Given the description of an element on the screen output the (x, y) to click on. 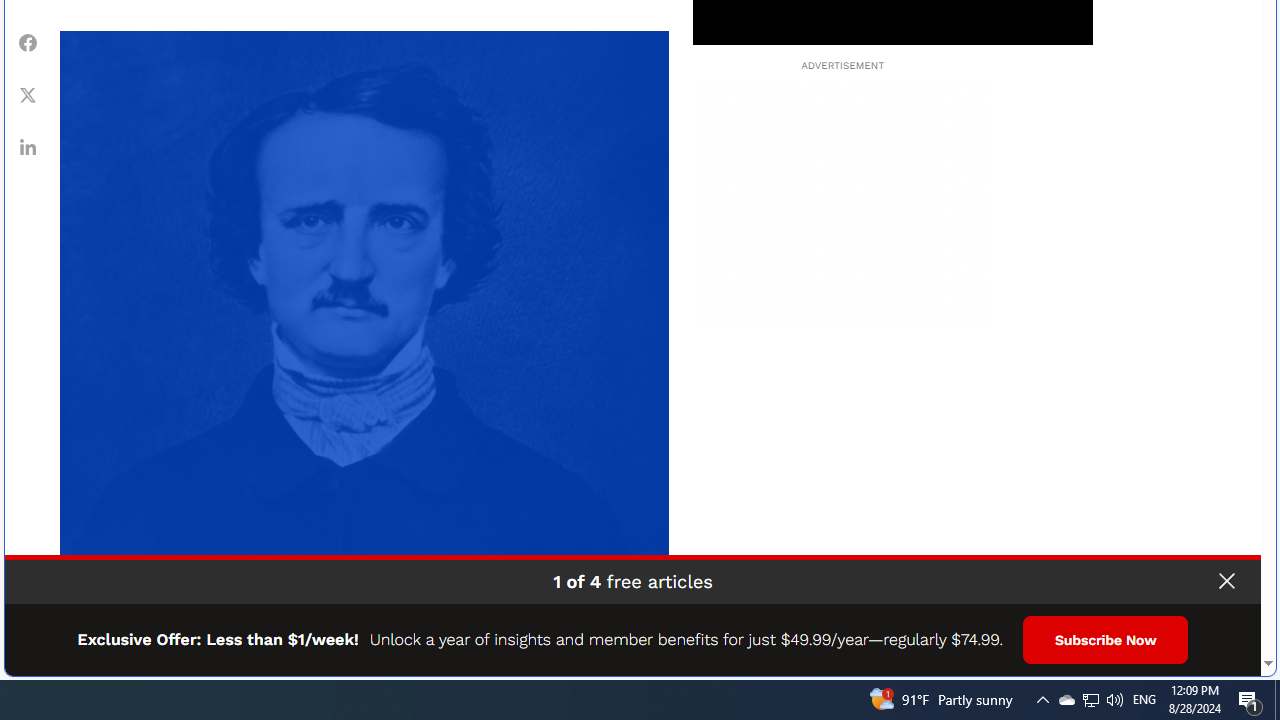
Share Facebook (28, 43)
Subscribe Now (1105, 639)
Share Twitter (28, 95)
Share Linkedin (28, 147)
Class: fs-icon fs-icon--linkedin (28, 147)
Terms (1242, 653)
Class: fs-icon fs-icon--xCorp (28, 95)
Class: article-sharing__item (28, 147)
Class: fs-icon fs-icon--Facebook (27, 42)
Portrait of Edgar Allan Poe. (364, 335)
Class: close-button unbutton (1226, 581)
